Given the description of an element on the screen output the (x, y) to click on. 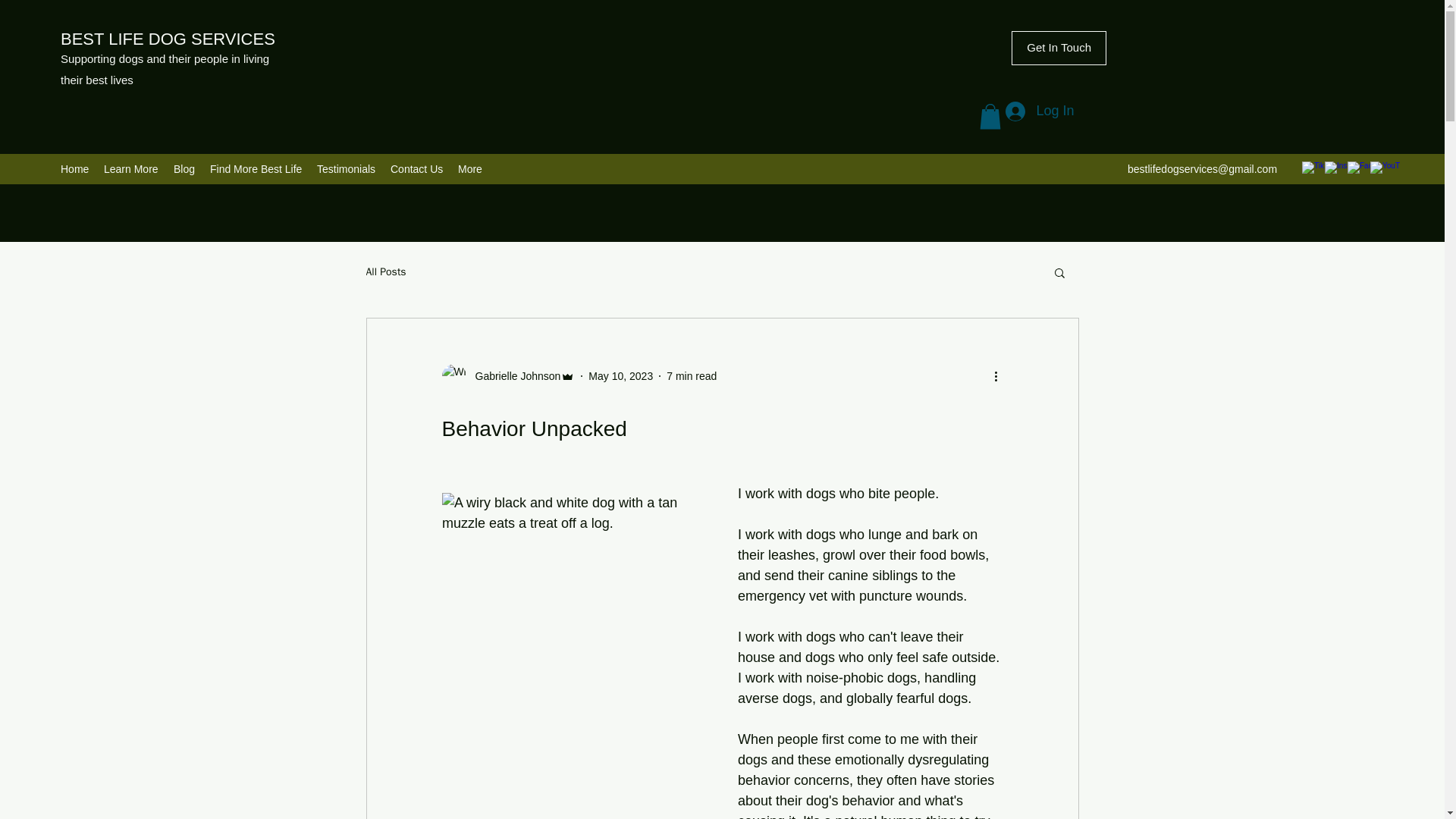
Blog (183, 169)
7 min read (691, 376)
Get In Touch (1058, 48)
Find More Best Life (255, 169)
Log In (1039, 111)
Home (74, 169)
Gabrielle Johnson (512, 376)
Learn More (130, 169)
Testimonials (345, 169)
BEST LIFE DOG SERVICES  (170, 38)
